Given the description of an element on the screen output the (x, y) to click on. 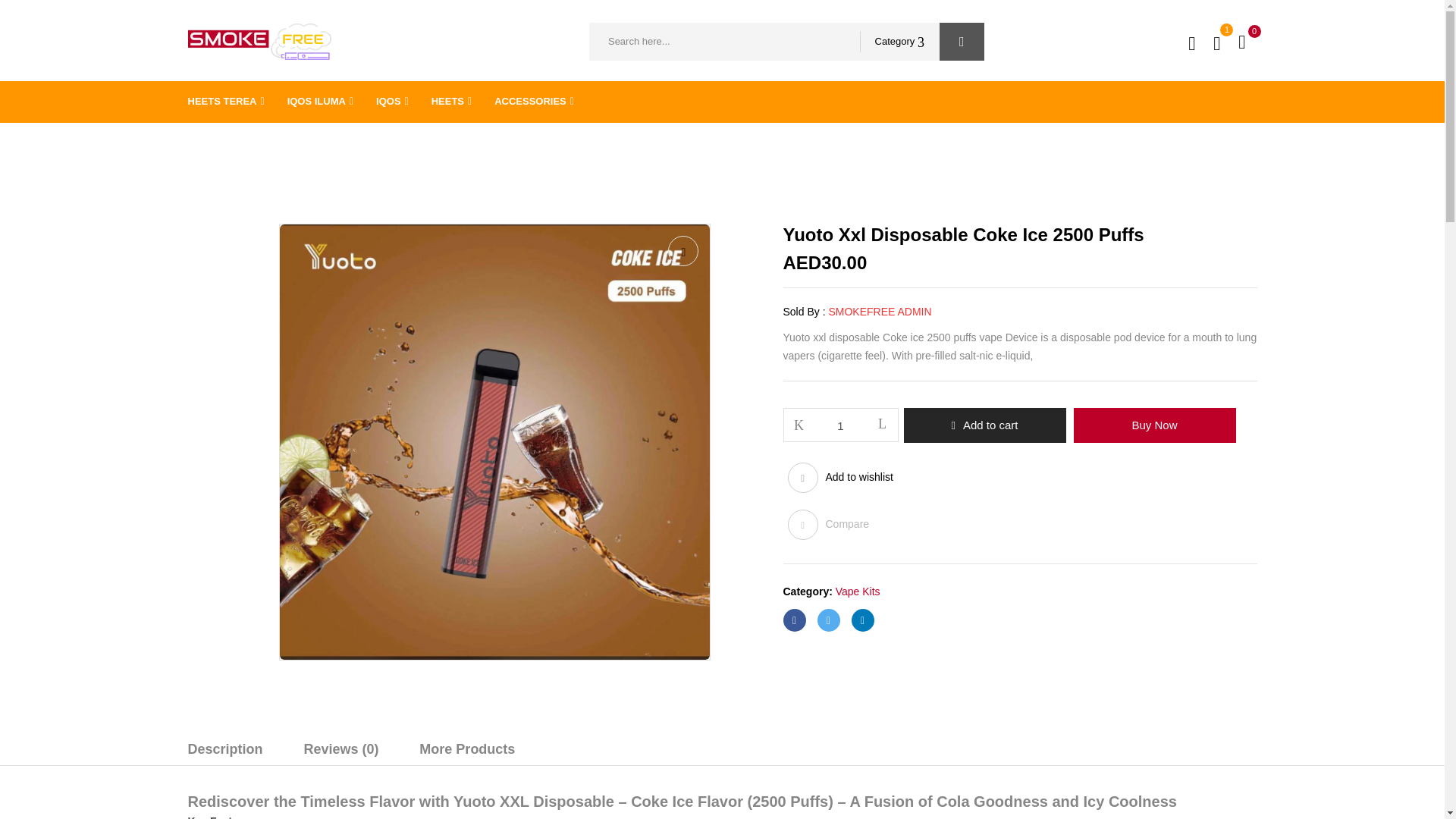
LinkedIn (861, 620)
Facebook (794, 620)
Twitter (828, 620)
1 (841, 425)
